Given the description of an element on the screen output the (x, y) to click on. 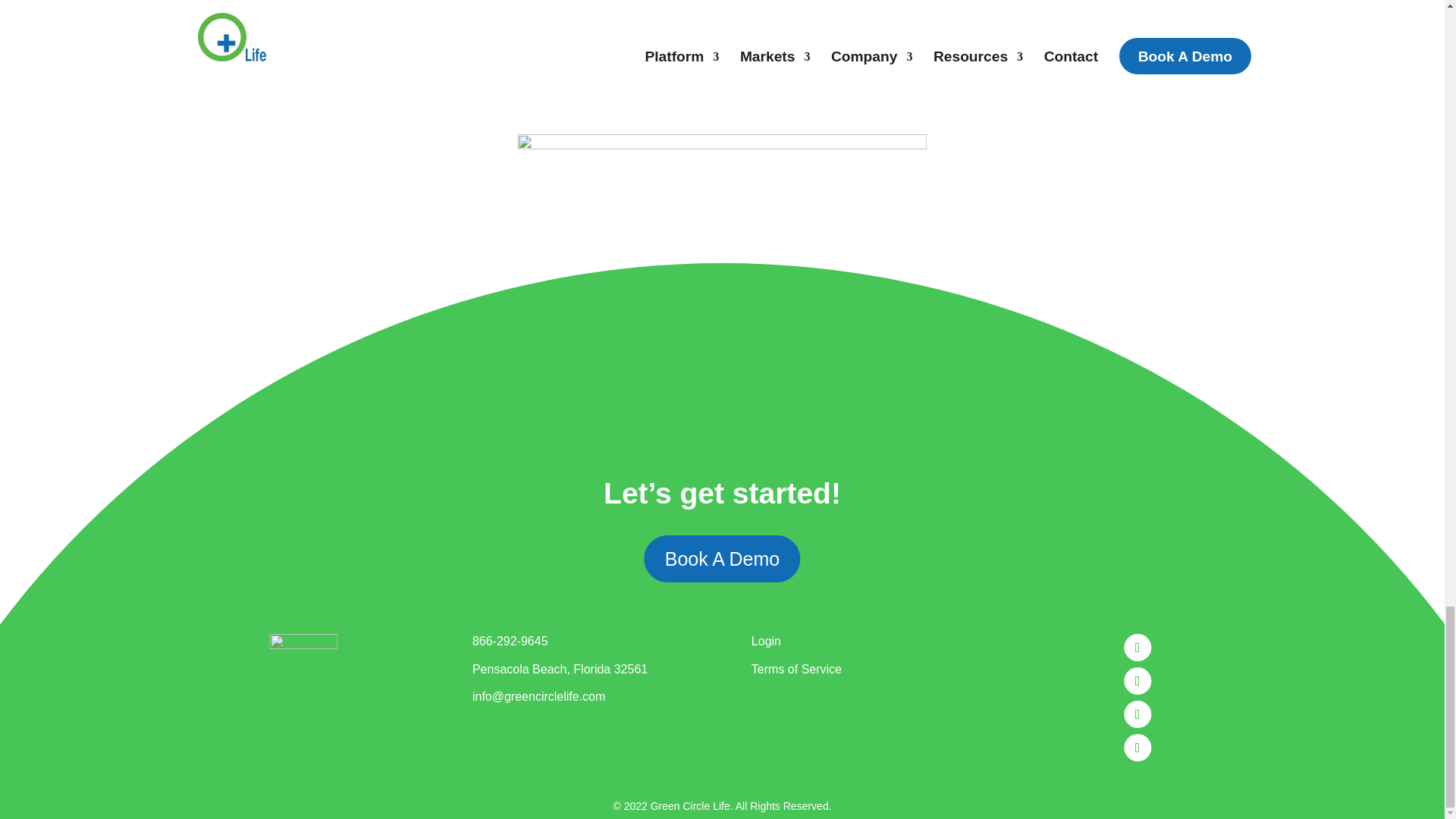
Follow on Twitter (1137, 680)
Follow on LinkedIn (1137, 714)
Follow on Facebook (1137, 646)
Team (721, 293)
Follow on Instagram (1137, 747)
gclife-logo-white (303, 657)
